Given the description of an element on the screen output the (x, y) to click on. 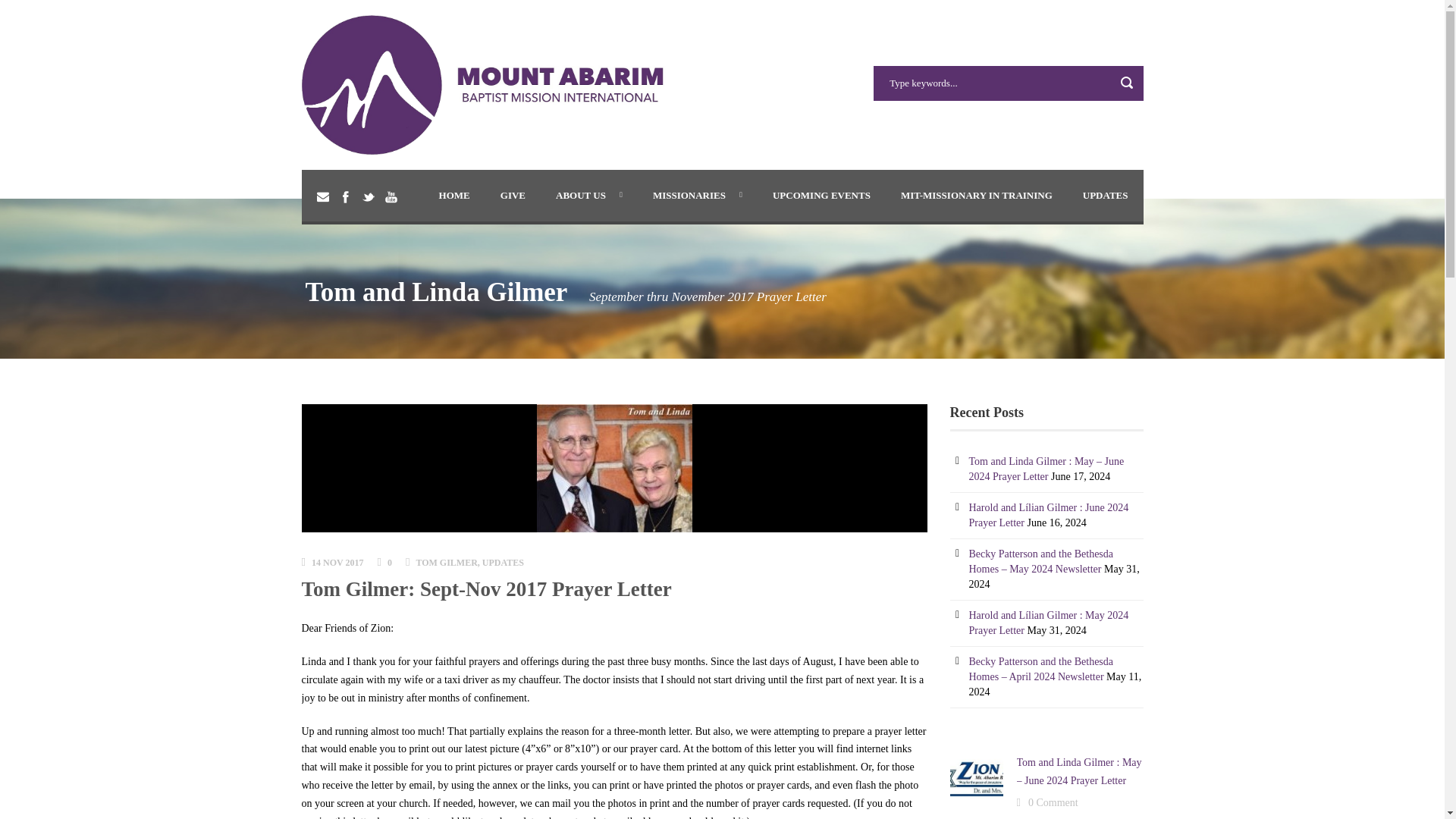
HOME (453, 195)
Type keywords... (1007, 83)
